Given the description of an element on the screen output the (x, y) to click on. 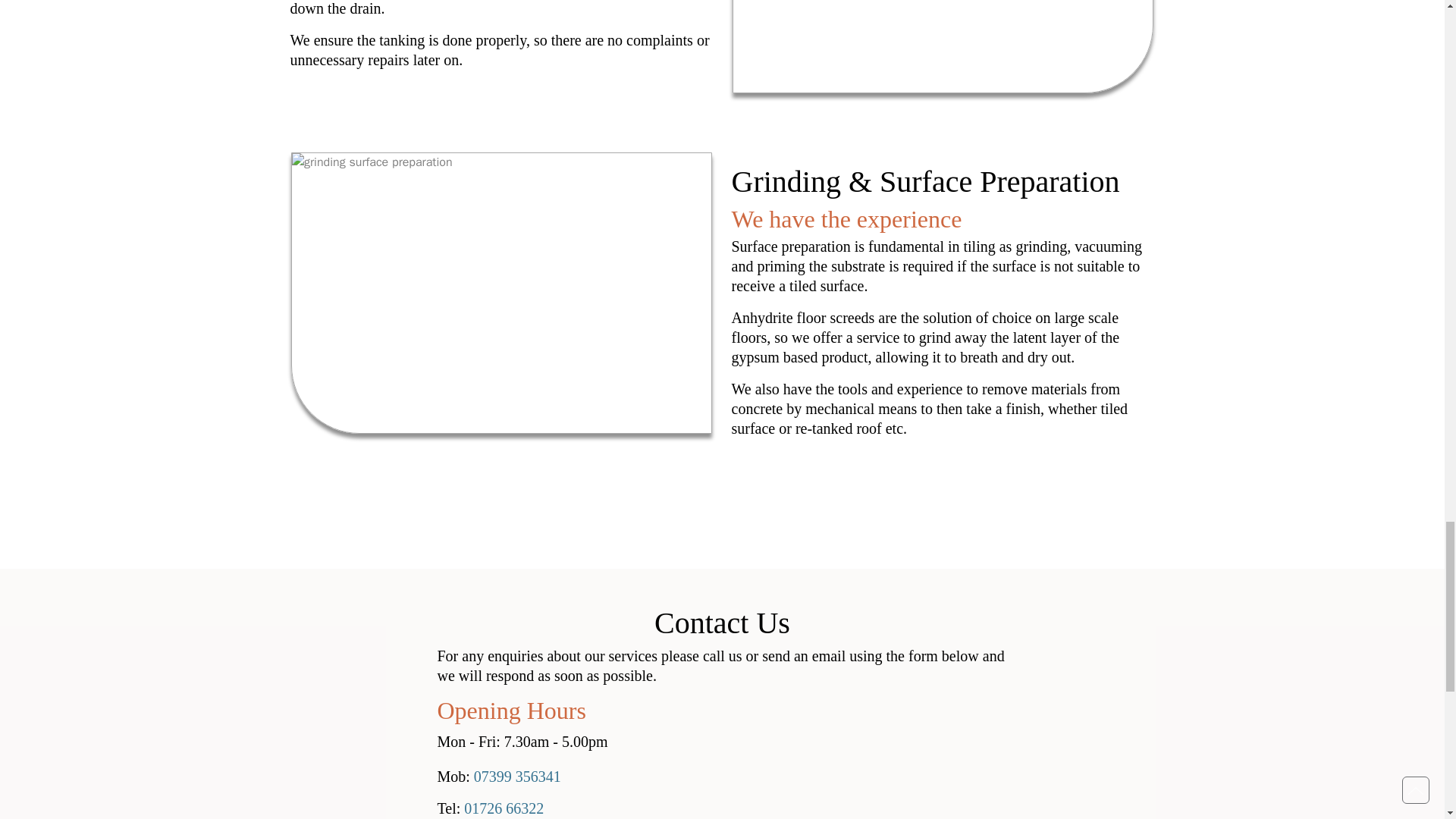
01726 66322 (503, 808)
07399 356341 (517, 776)
